Given the description of an element on the screen output the (x, y) to click on. 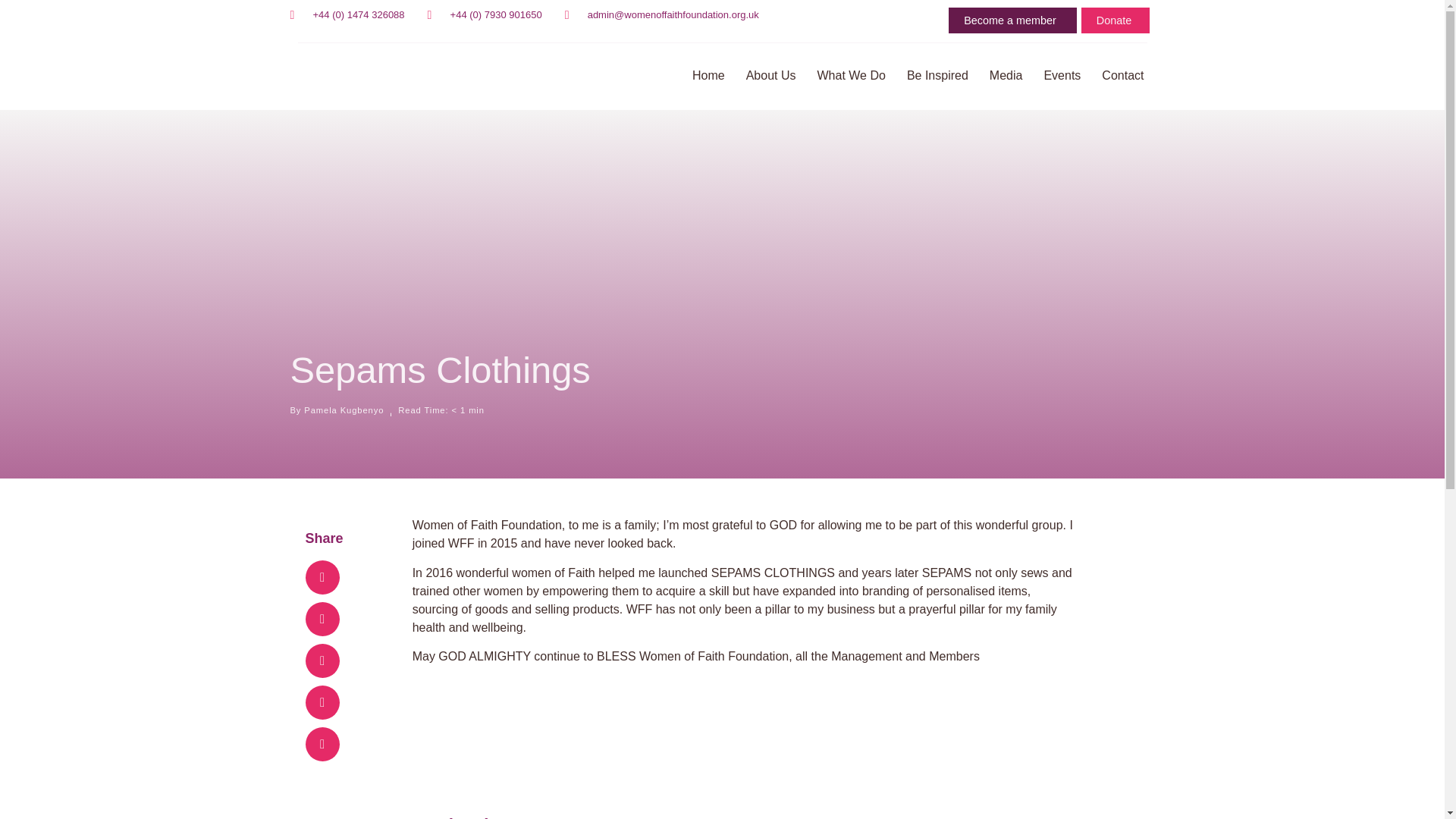
Be Inspired (937, 75)
About Us (770, 75)
Home (708, 75)
Become a member (1013, 20)
What We Do (851, 75)
Media (1005, 75)
Events (1061, 75)
Donate (1115, 20)
Contact (1122, 75)
